Given the description of an element on the screen output the (x, y) to click on. 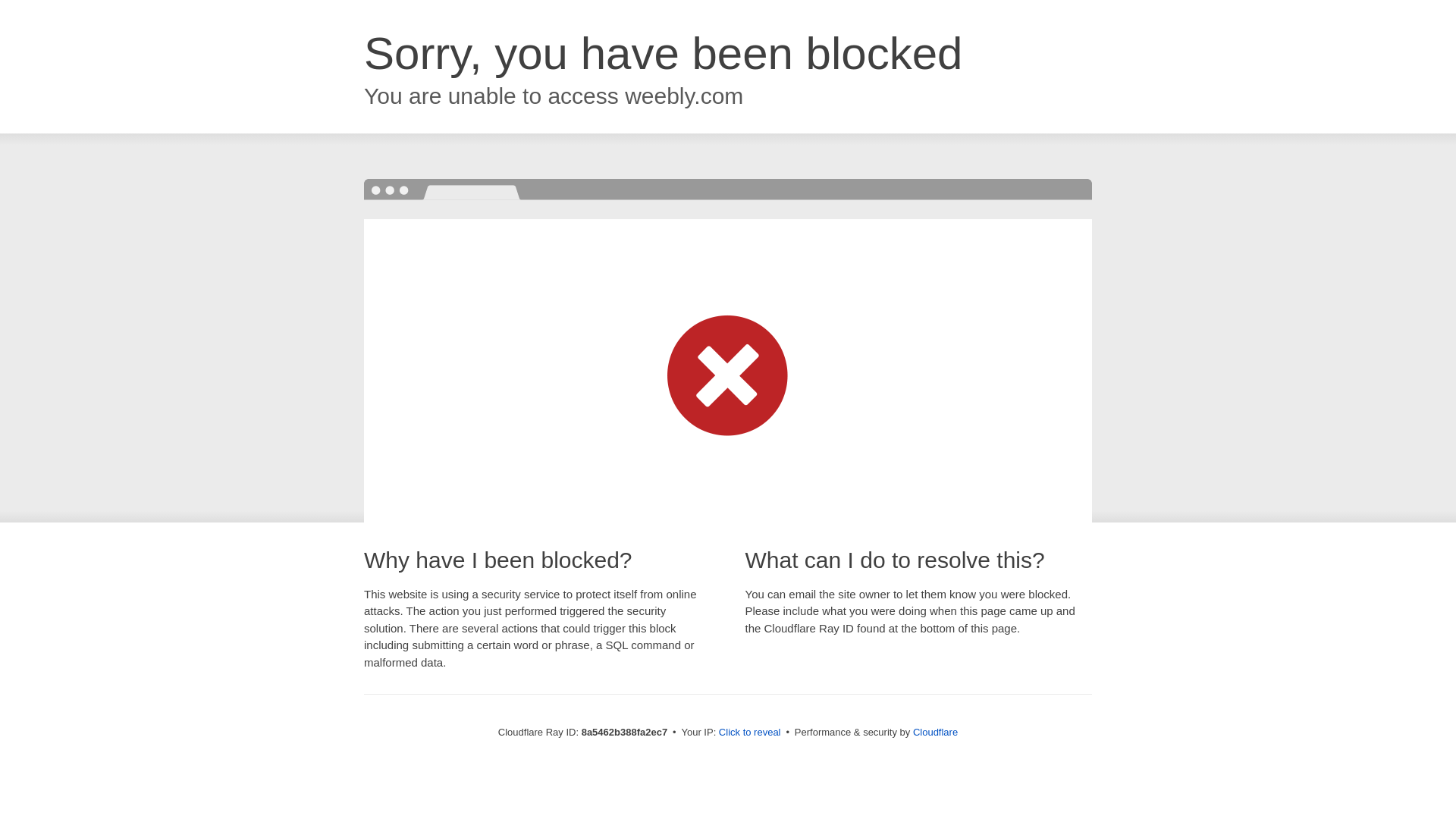
Cloudflare (935, 731)
Click to reveal (749, 732)
